Given the description of an element on the screen output the (x, y) to click on. 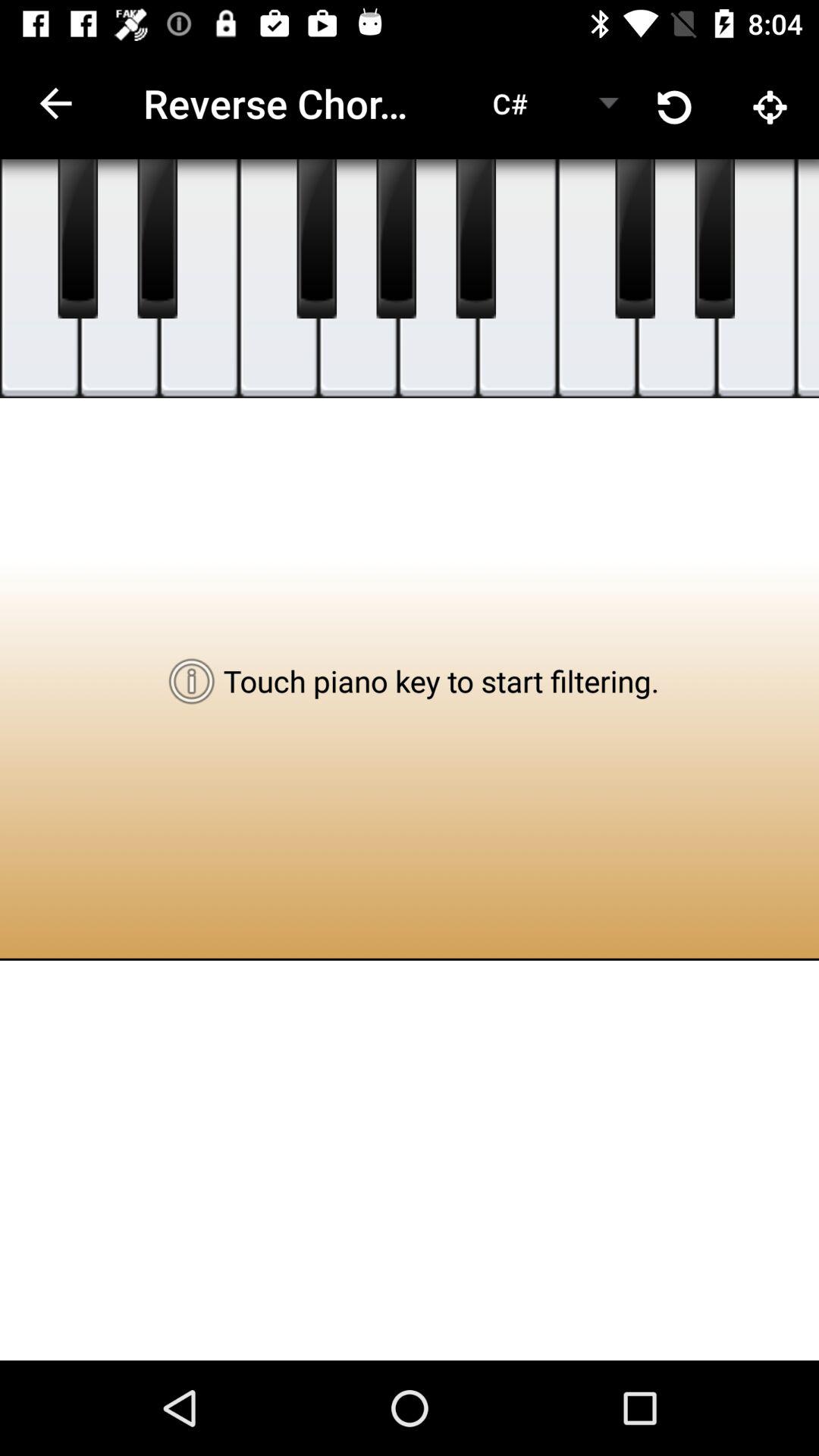
select the item below the reverse chord lookup app (358, 278)
